Given the description of an element on the screen output the (x, y) to click on. 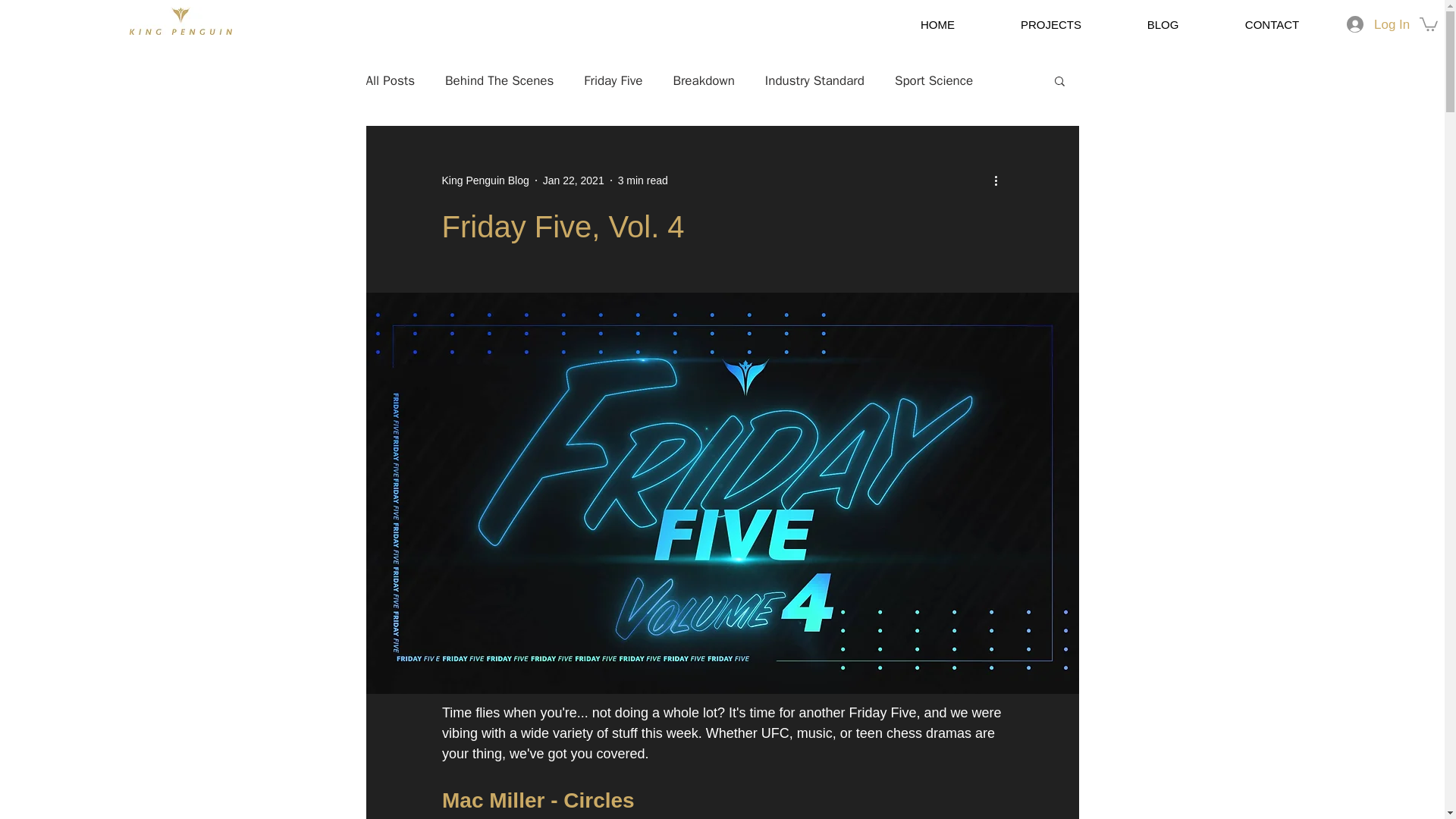
BLOG (1162, 24)
HOME (937, 24)
Jan 22, 2021 (573, 180)
King Penguin Blog (484, 180)
CONTACT (1271, 24)
All Posts (389, 80)
Friday Five (612, 80)
Behind The Scenes (499, 80)
King Penguin Blog (484, 180)
Industry Standard (814, 80)
